Given the description of an element on the screen output the (x, y) to click on. 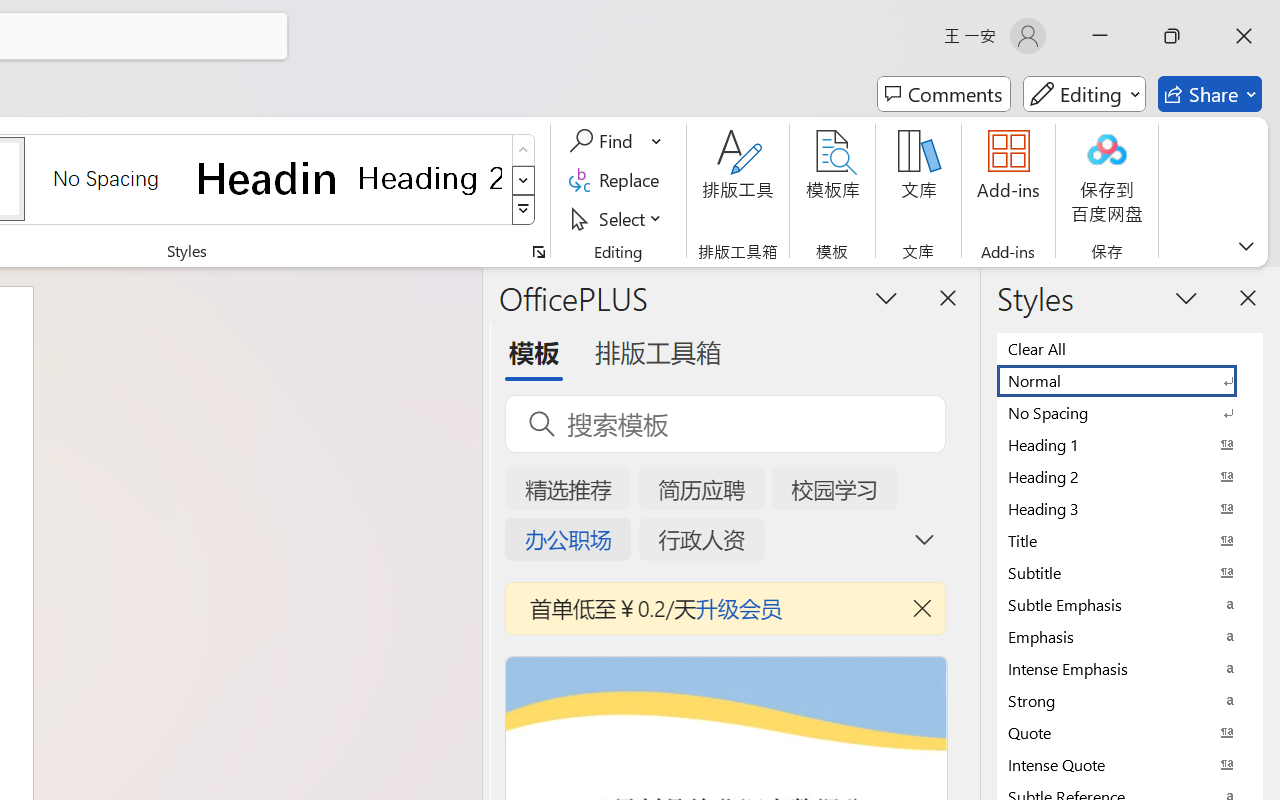
Share (1210, 94)
Comments (943, 94)
